Given the description of an element on the screen output the (x, y) to click on. 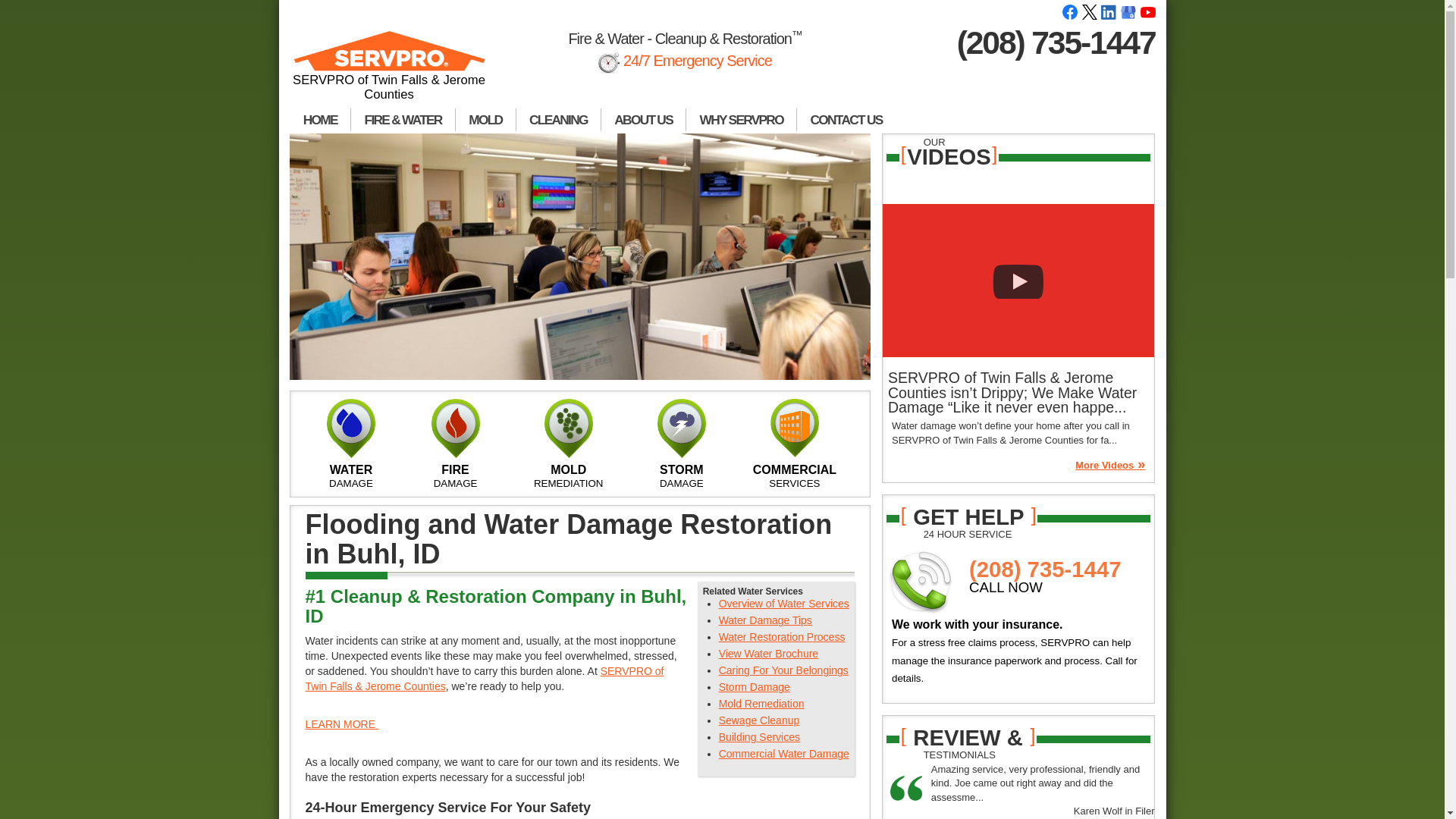
HOME (319, 120)
MOLD (485, 120)
CLEANING (558, 120)
ABOUT US (643, 120)
